Given the description of an element on the screen output the (x, y) to click on. 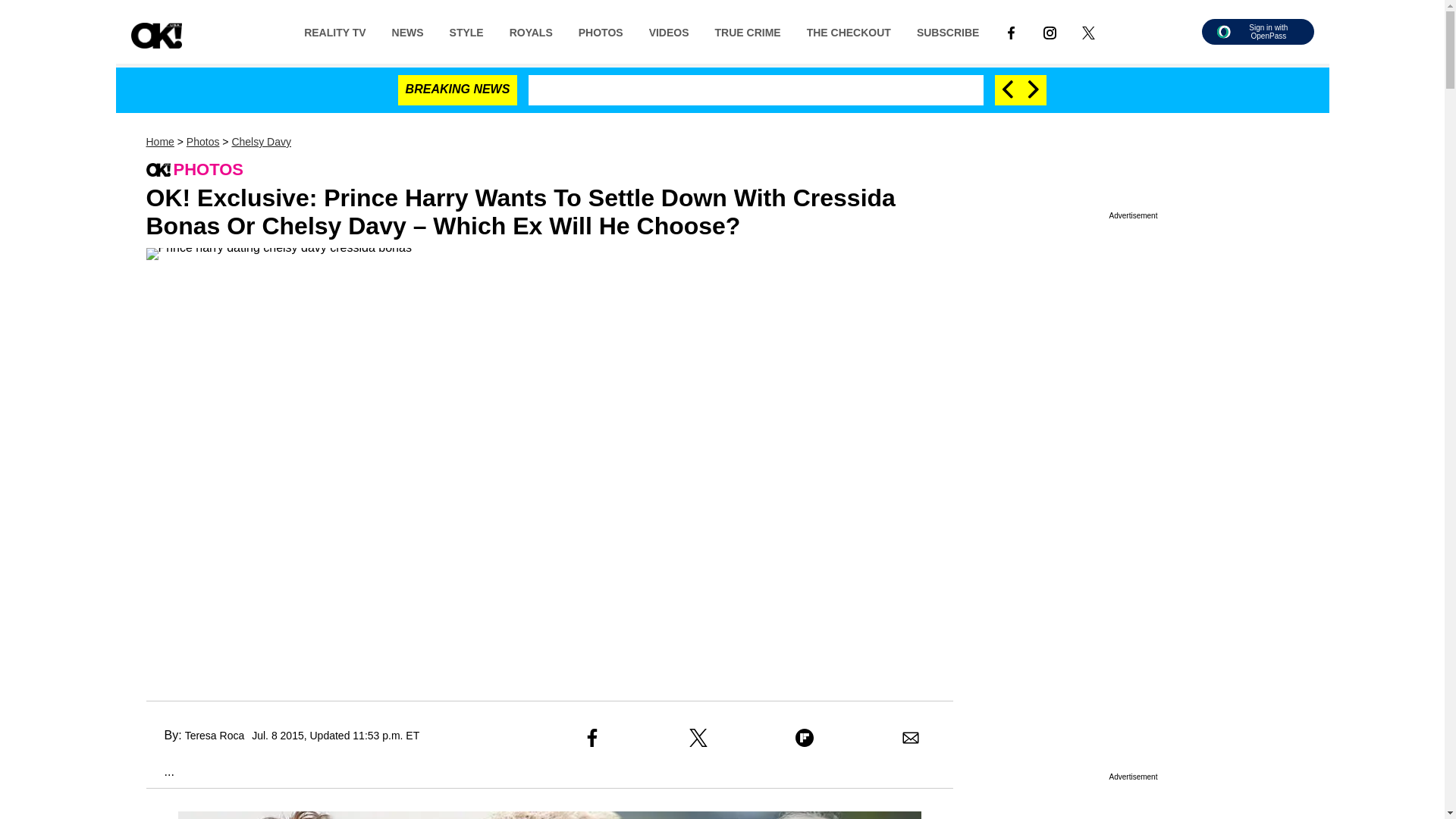
LINK TO X (1087, 32)
... (159, 771)
REALITY TV (334, 31)
Share to Flipboard (803, 737)
LINK TO FACEBOOK (1010, 31)
LINK TO FACEBOOK (1010, 32)
Link to Instagram (1049, 31)
THE CHECKOUT (848, 31)
NEWS (407, 31)
Photos (202, 141)
Share to Facebook (590, 737)
TRUE CRIME (747, 31)
STYLE (466, 31)
Sign in with OpenPass (1257, 31)
LINK TO INSTAGRAM (1049, 31)
